Given the description of an element on the screen output the (x, y) to click on. 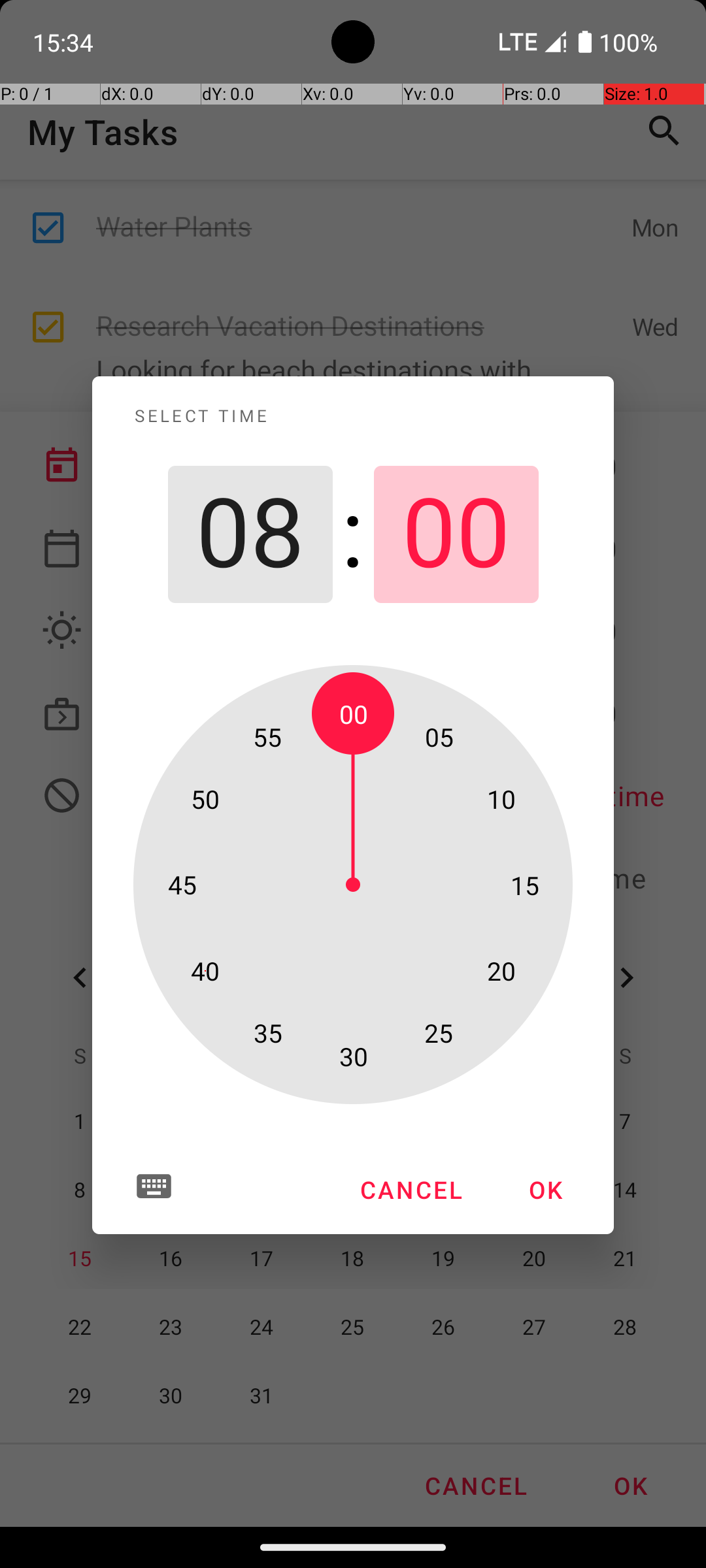
08 Element type: android.view.View (250, 534)
